Given the description of an element on the screen output the (x, y) to click on. 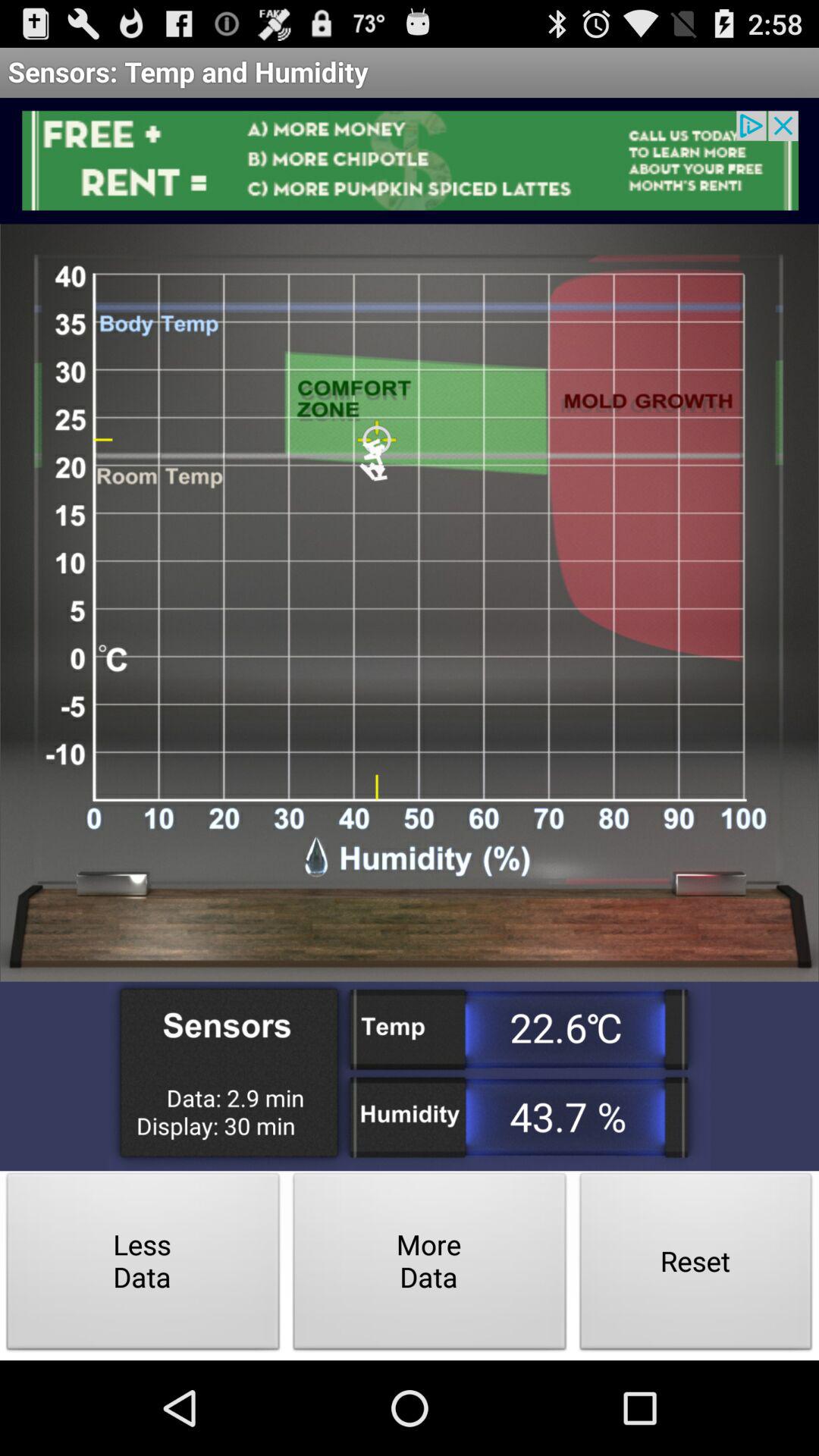
select button at the bottom right corner (696, 1265)
